Given the description of an element on the screen output the (x, y) to click on. 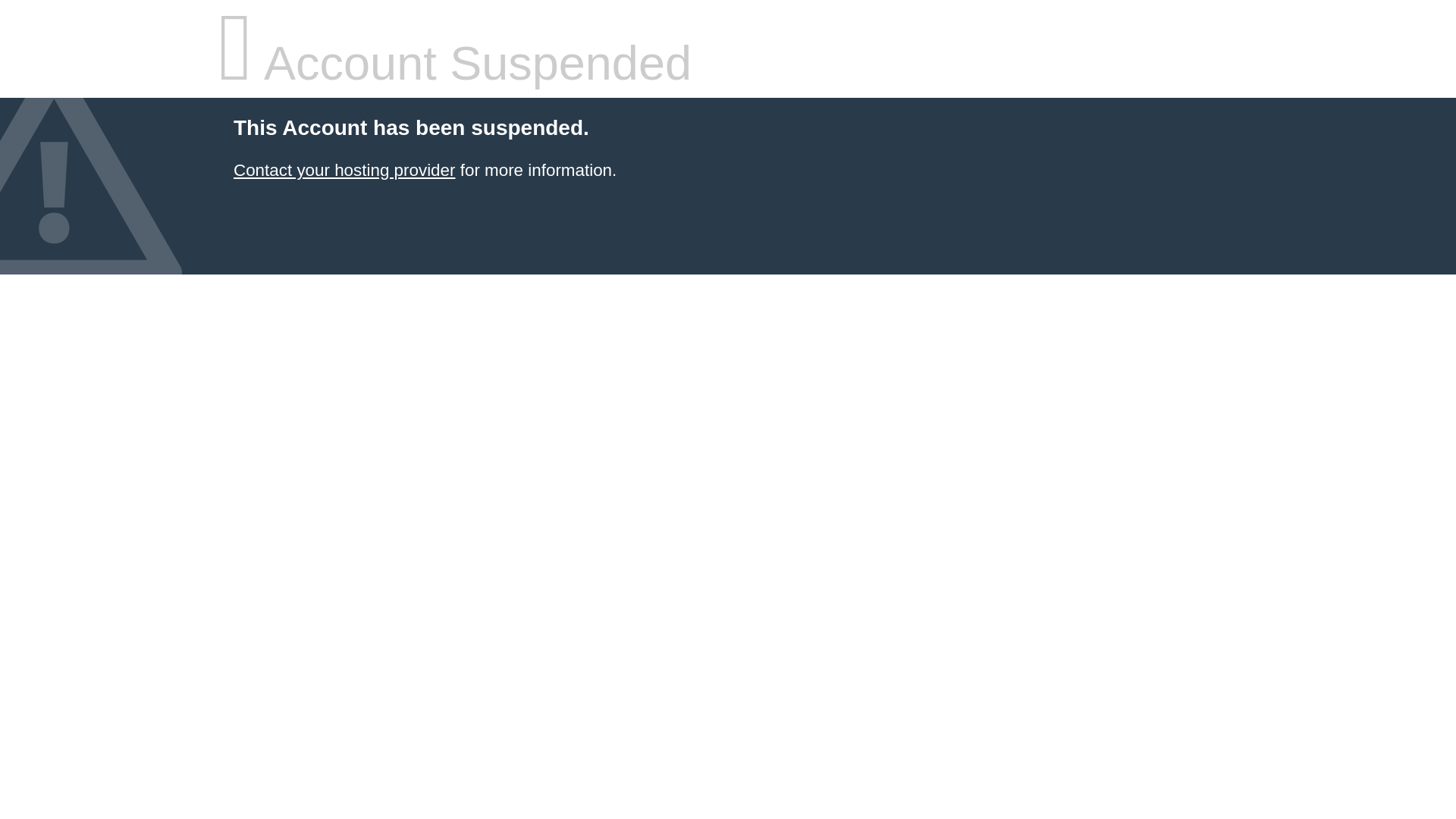
Contact your hosting provider (343, 169)
Webworx International Pty Ltd (343, 169)
